Given the description of an element on the screen output the (x, y) to click on. 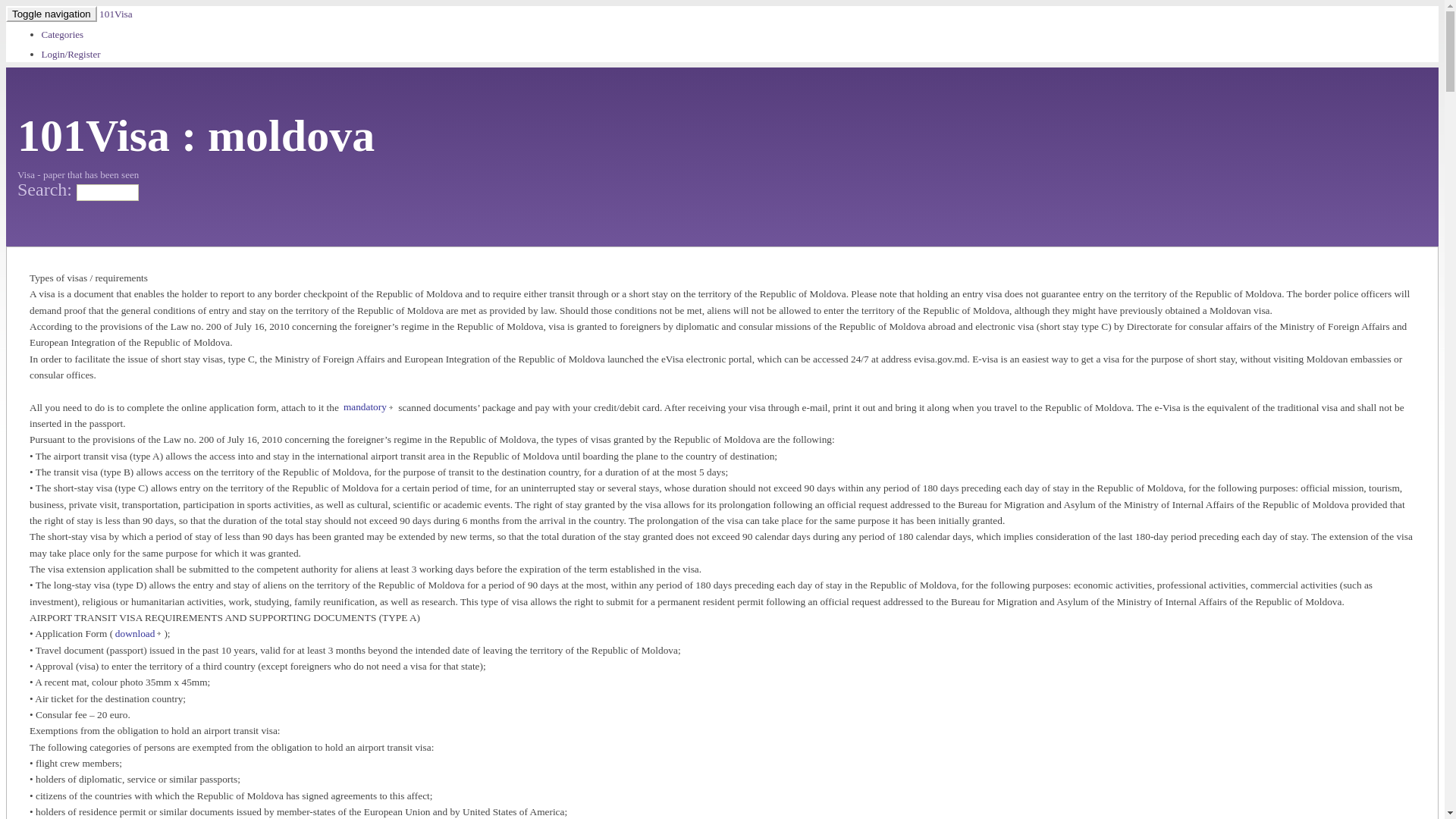
mandatory Element type: text (368, 407)
Toggle navigation Element type: text (51, 13)
101Visa Element type: text (93, 135)
101Visa Element type: text (115, 13)
download Element type: text (138, 633)
Categories Element type: text (61, 34)
Login/Register Element type: text (70, 53)
moldova Element type: text (290, 135)
